Given the description of an element on the screen output the (x, y) to click on. 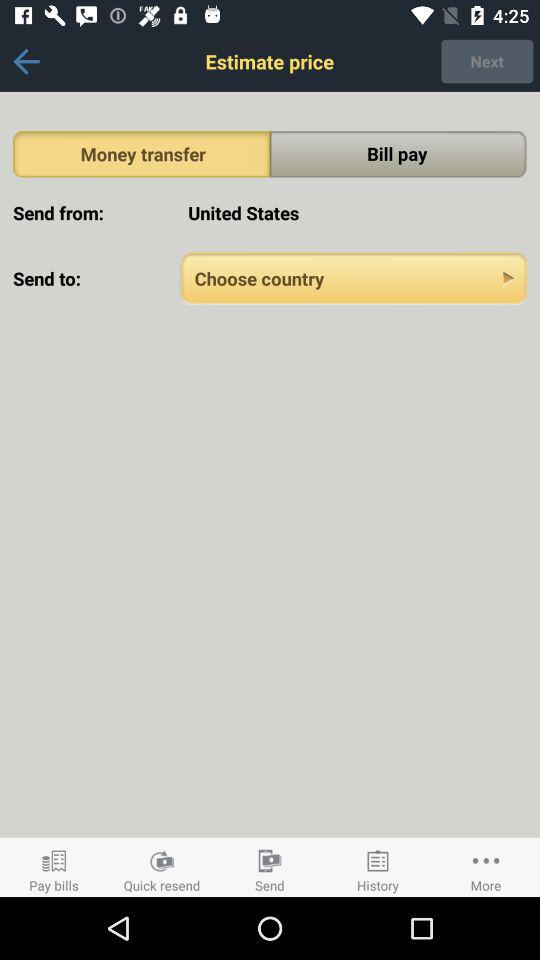
launch the item next to the money transfer (398, 154)
